Given the description of an element on the screen output the (x, y) to click on. 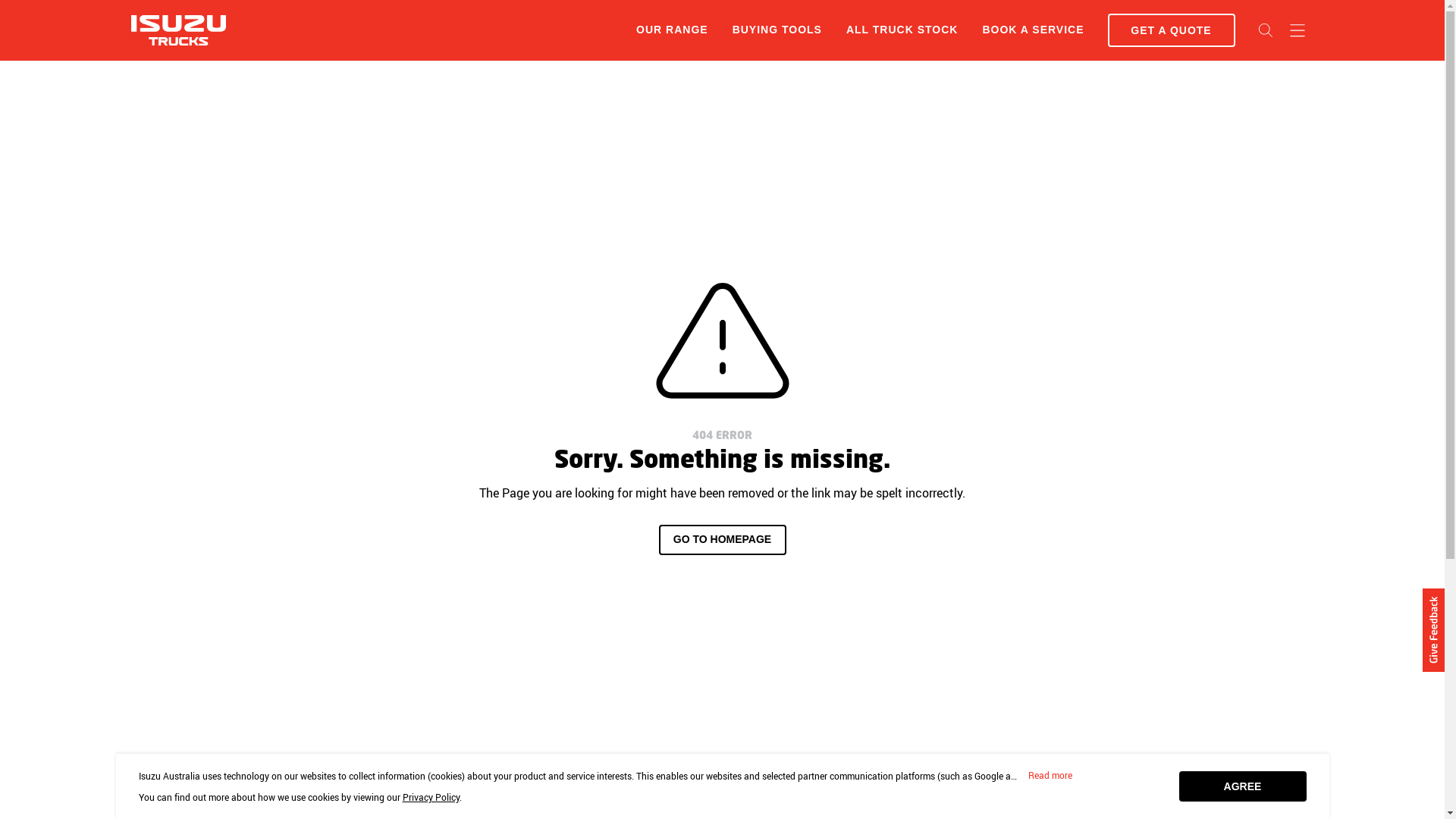
OUR RANGE Element type: text (672, 29)
ALL TRUCK STOCK Element type: text (901, 30)
Privacy Policy Element type: text (429, 796)
GO TO HOMEPAGE Element type: text (721, 539)
BUYING TOOLS Element type: text (777, 30)
GET A QUOTE Element type: text (1170, 30)
AGREE Element type: text (1241, 786)
BOOK A SERVICE Element type: text (1032, 30)
Read more Element type: text (1049, 775)
